Given the description of an element on the screen output the (x, y) to click on. 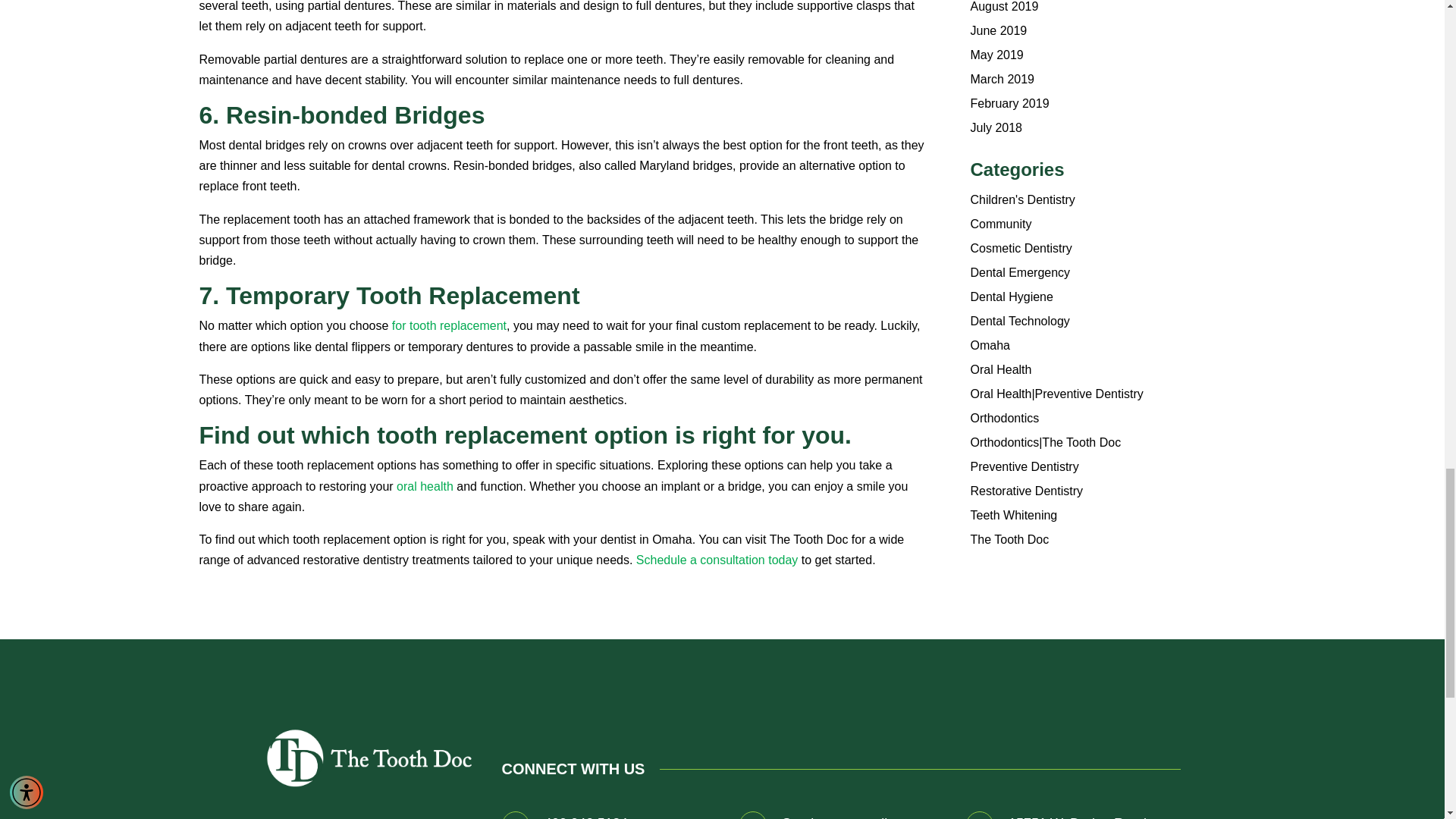
for tooth replacement (448, 325)
tooth-doc-logo-footer (371, 757)
Schedule a consultation today (716, 559)
oral health (424, 486)
